Given the description of an element on the screen output the (x, y) to click on. 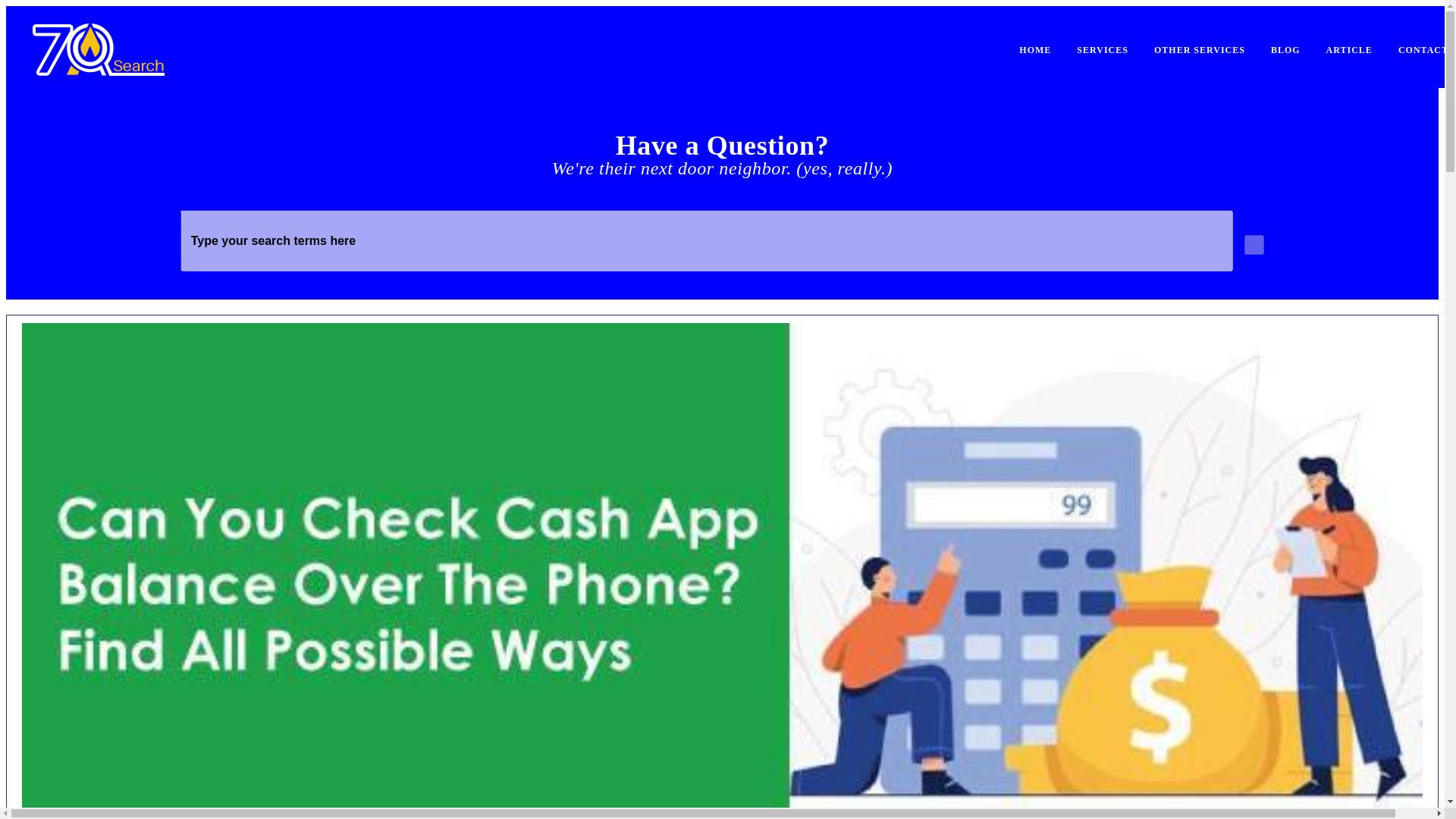
BLOG (1285, 49)
OTHER SERVICES (1199, 49)
HOME (1035, 49)
CONTACT (1421, 49)
SERVICES (1102, 49)
ARTICLE (1349, 49)
7qasearch (98, 49)
